Given the description of an element on the screen output the (x, y) to click on. 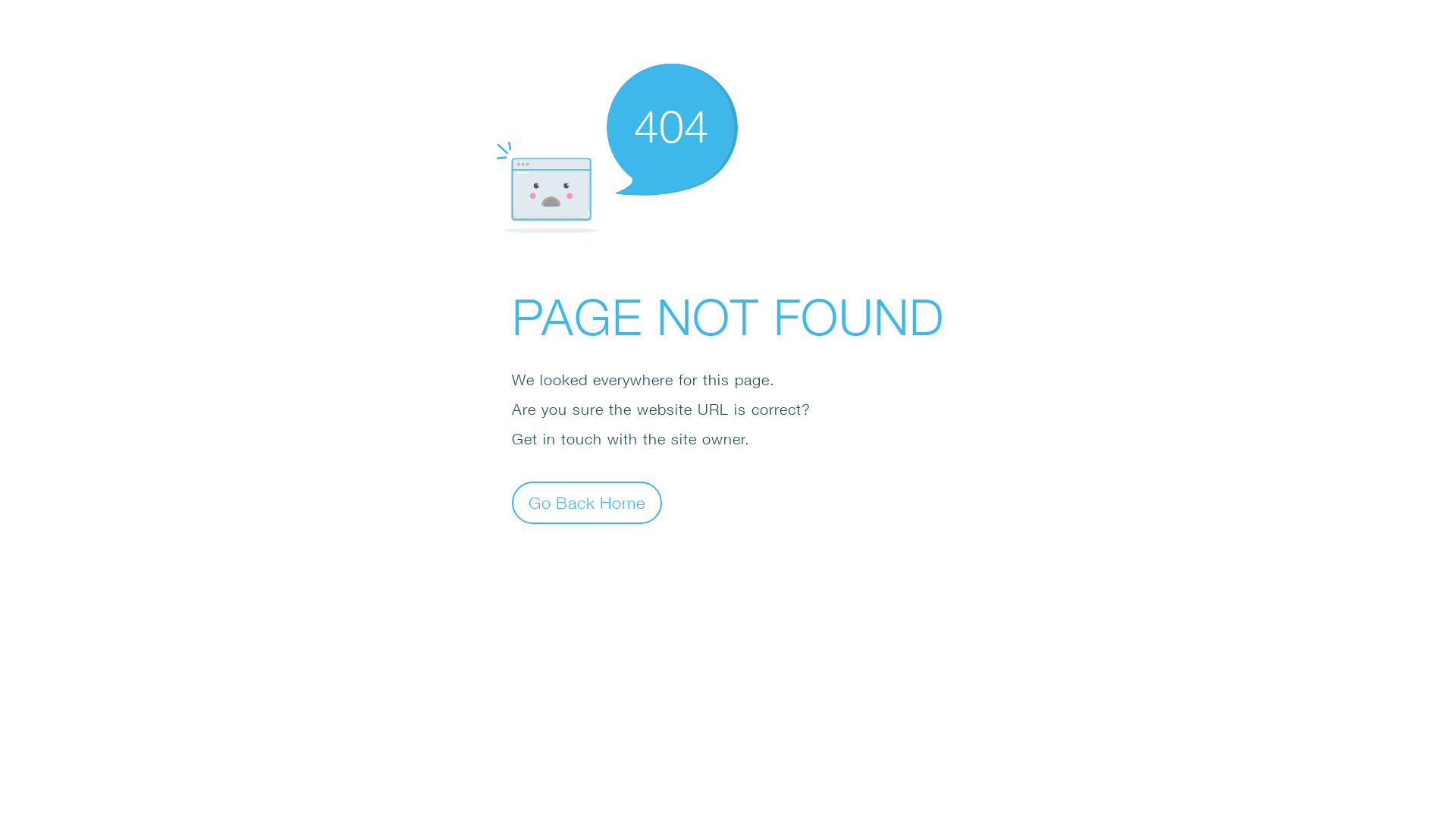
Go Back Home Element type: text (586, 502)
